Given the description of an element on the screen output the (x, y) to click on. 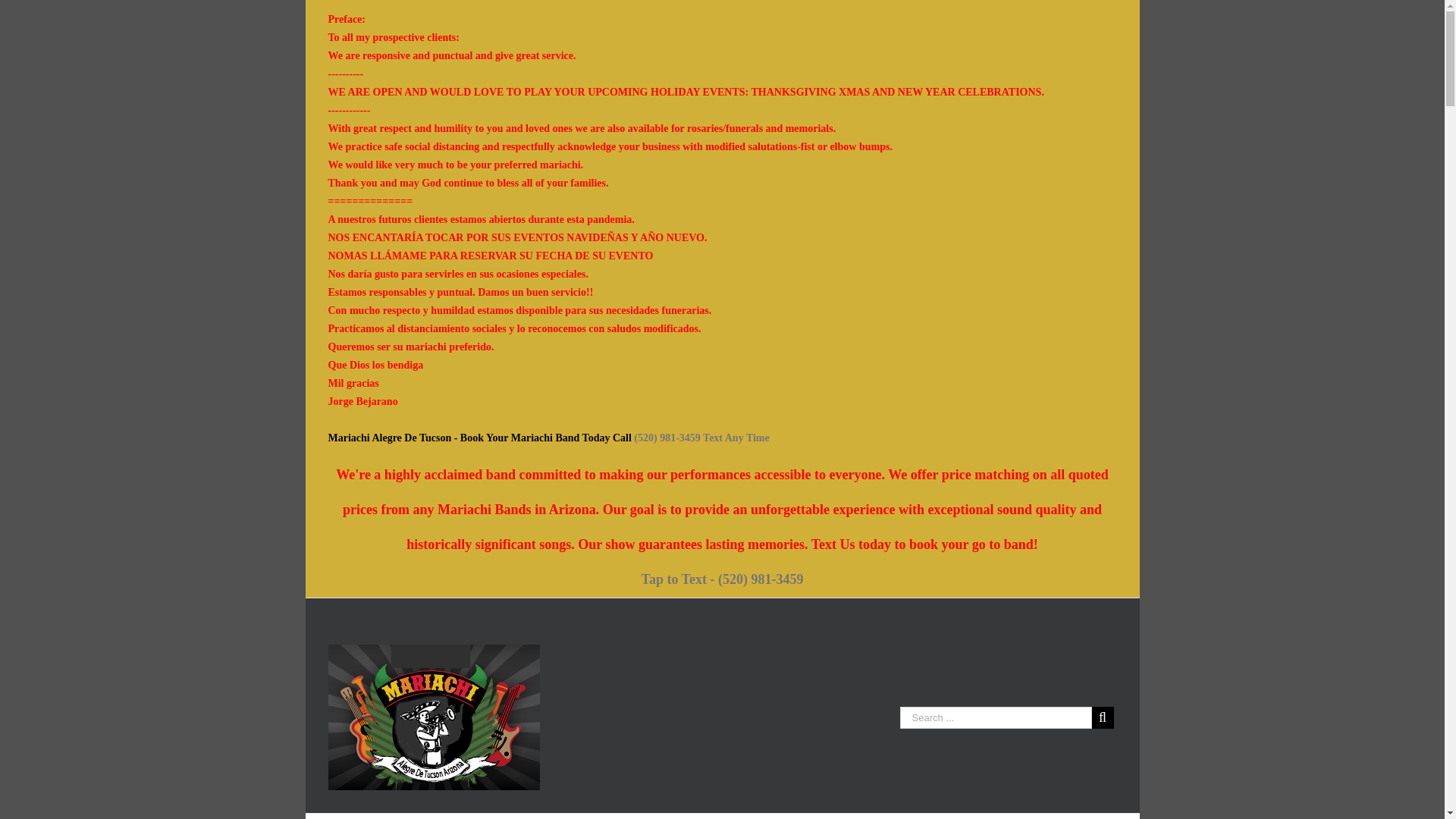
HOLIDAY PARTIES (638, 816)
HOME (344, 816)
BLOG (729, 816)
FACEBOOK (957, 816)
MORE (787, 816)
FUNERAL SERVICES (506, 816)
FIESTA (406, 816)
CONTACT US (864, 816)
